Given the description of an element on the screen output the (x, y) to click on. 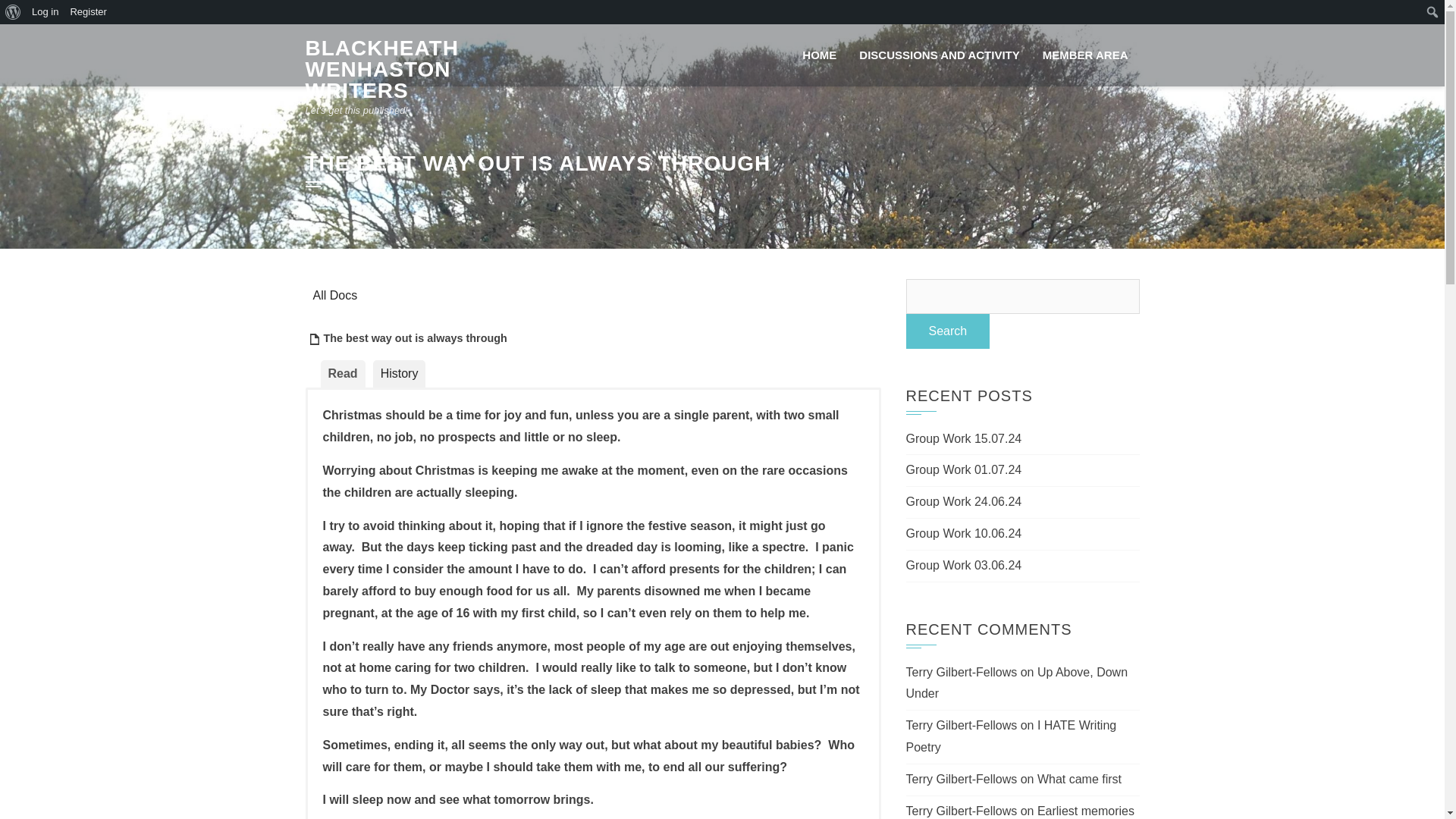
MEMBER AREA (1085, 55)
What came first (1078, 779)
Search (947, 330)
History (399, 374)
Group Work 10.06.24 (963, 533)
I HATE Writing Poetry (1010, 736)
DISCUSSIONS AND ACTIVITY (938, 55)
Search (15, 12)
Register (88, 12)
Search (947, 330)
Group Work 15.07.24 (963, 438)
All Docs (334, 295)
HOME (818, 55)
Up Above, Down Under (1015, 683)
